Given the description of an element on the screen output the (x, y) to click on. 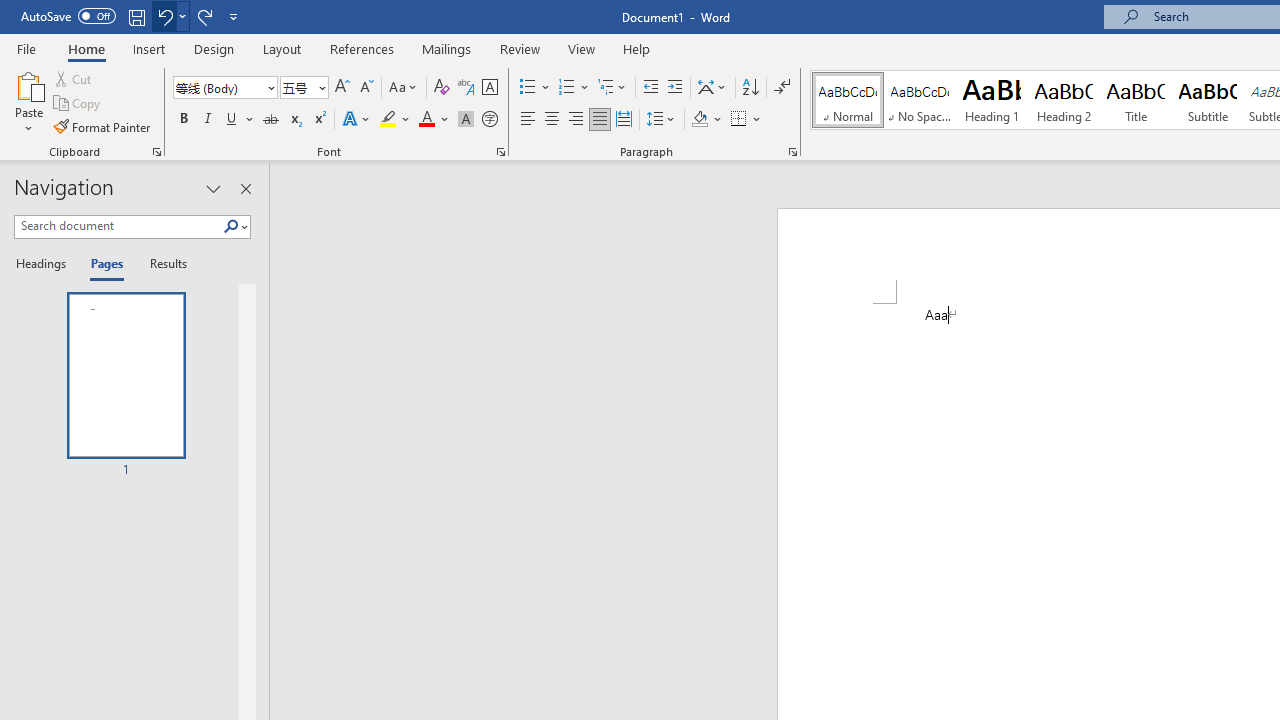
Save (136, 15)
Distributed (623, 119)
Bold (183, 119)
Decrease Indent (650, 87)
Font... (500, 151)
Pages (105, 264)
Character Shading (465, 119)
Quick Access Toolbar (131, 16)
Subtitle (1208, 100)
Search (235, 227)
Text Highlight Color Yellow (388, 119)
Paste (28, 102)
Customize Quick Access Toolbar (234, 15)
Font Color Red (426, 119)
